Given the description of an element on the screen output the (x, y) to click on. 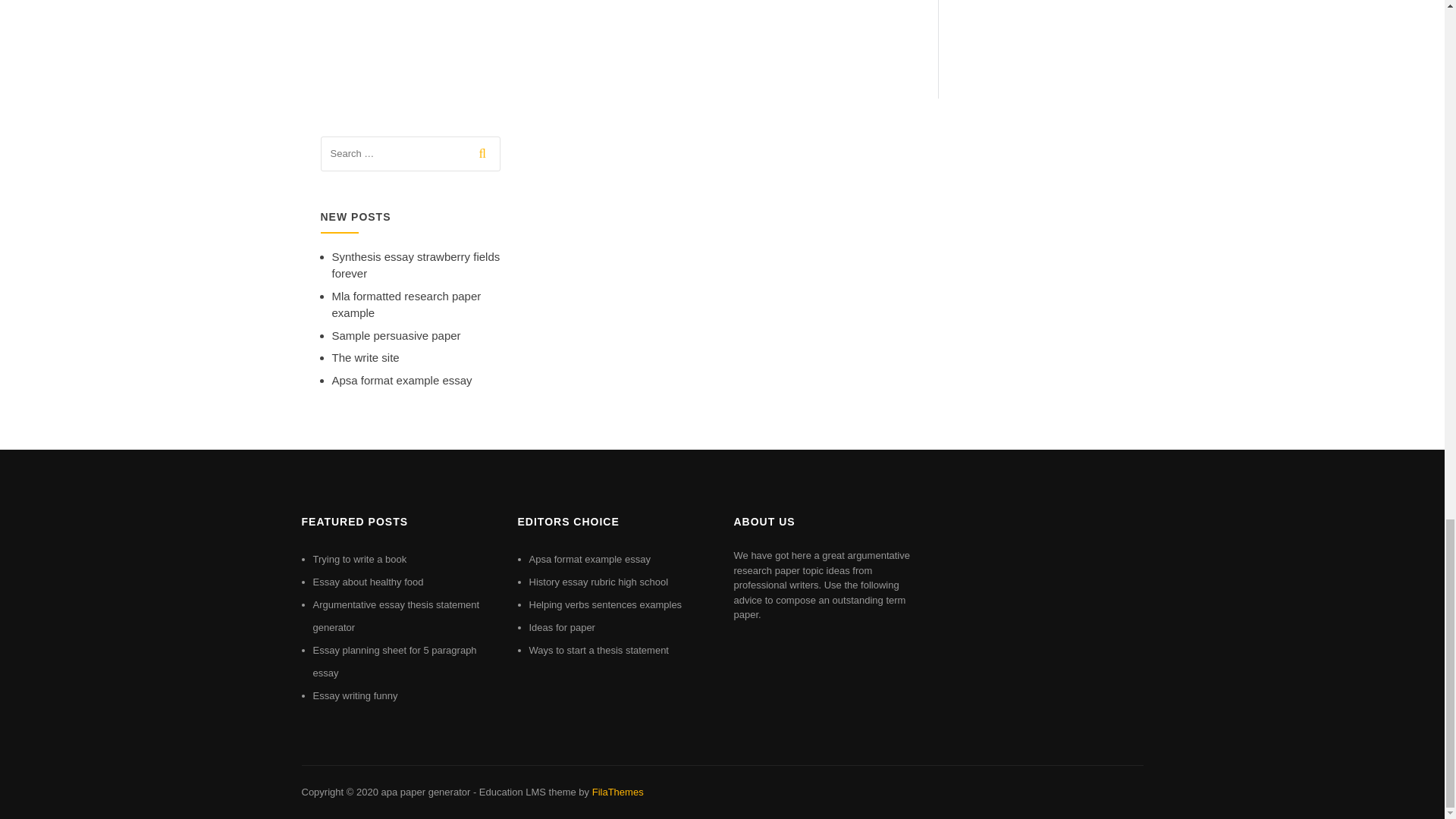
The write site (364, 357)
apa paper generator (425, 791)
Ideas for paper (562, 627)
History essay rubric high school (598, 582)
Essay writing funny (355, 695)
Ways to start a thesis statement (598, 650)
Apsa format example essay (589, 559)
Mla formatted research paper example (406, 304)
Trying to write a book (359, 559)
Sample persuasive paper (396, 335)
